Given the description of an element on the screen output the (x, y) to click on. 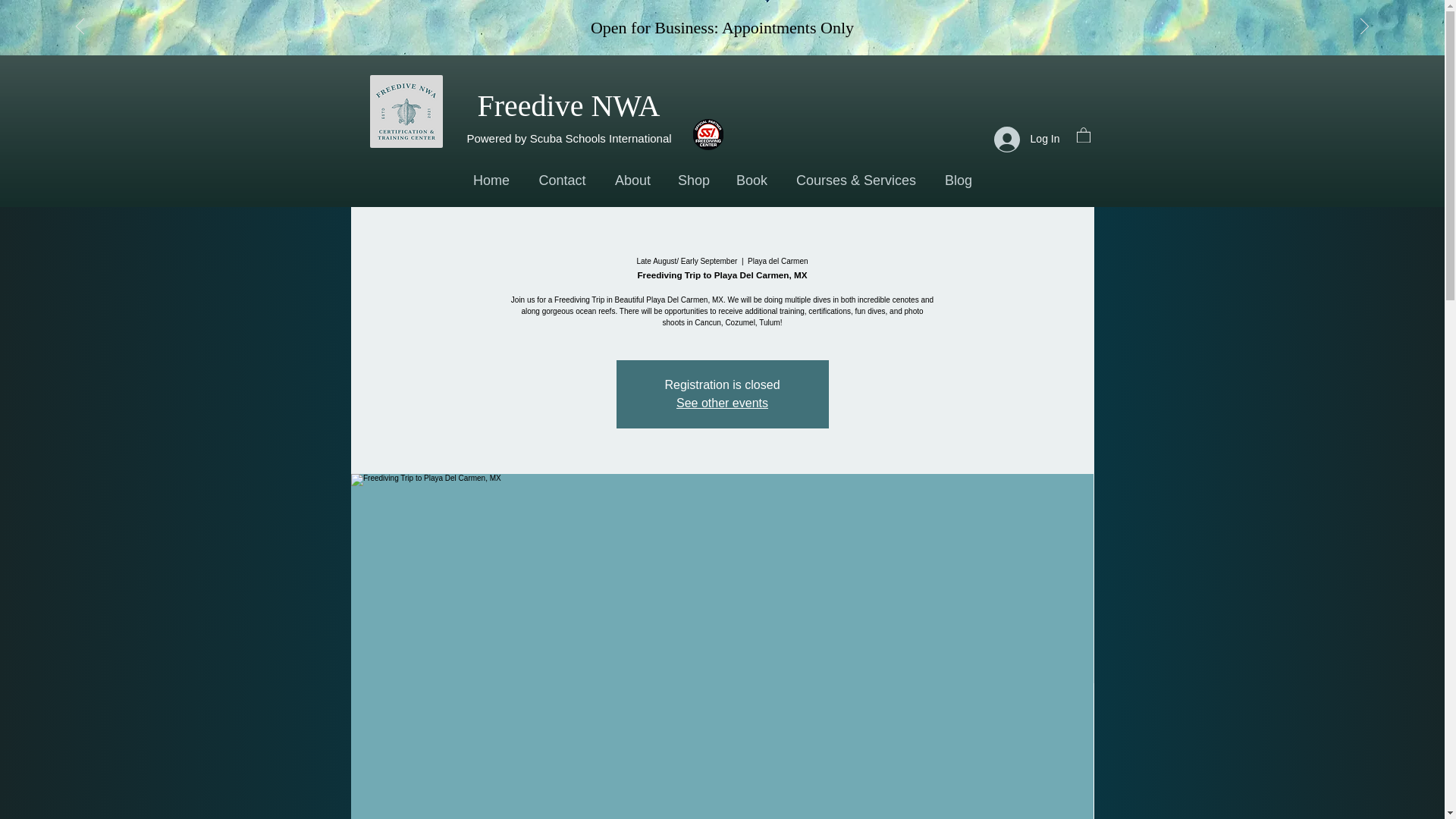
See other events (722, 402)
Contact (561, 180)
Book (751, 180)
Freedive NWA (568, 105)
Shop (693, 180)
Blog (958, 180)
Log In (1027, 138)
Home (491, 180)
About (632, 180)
